Given the description of an element on the screen output the (x, y) to click on. 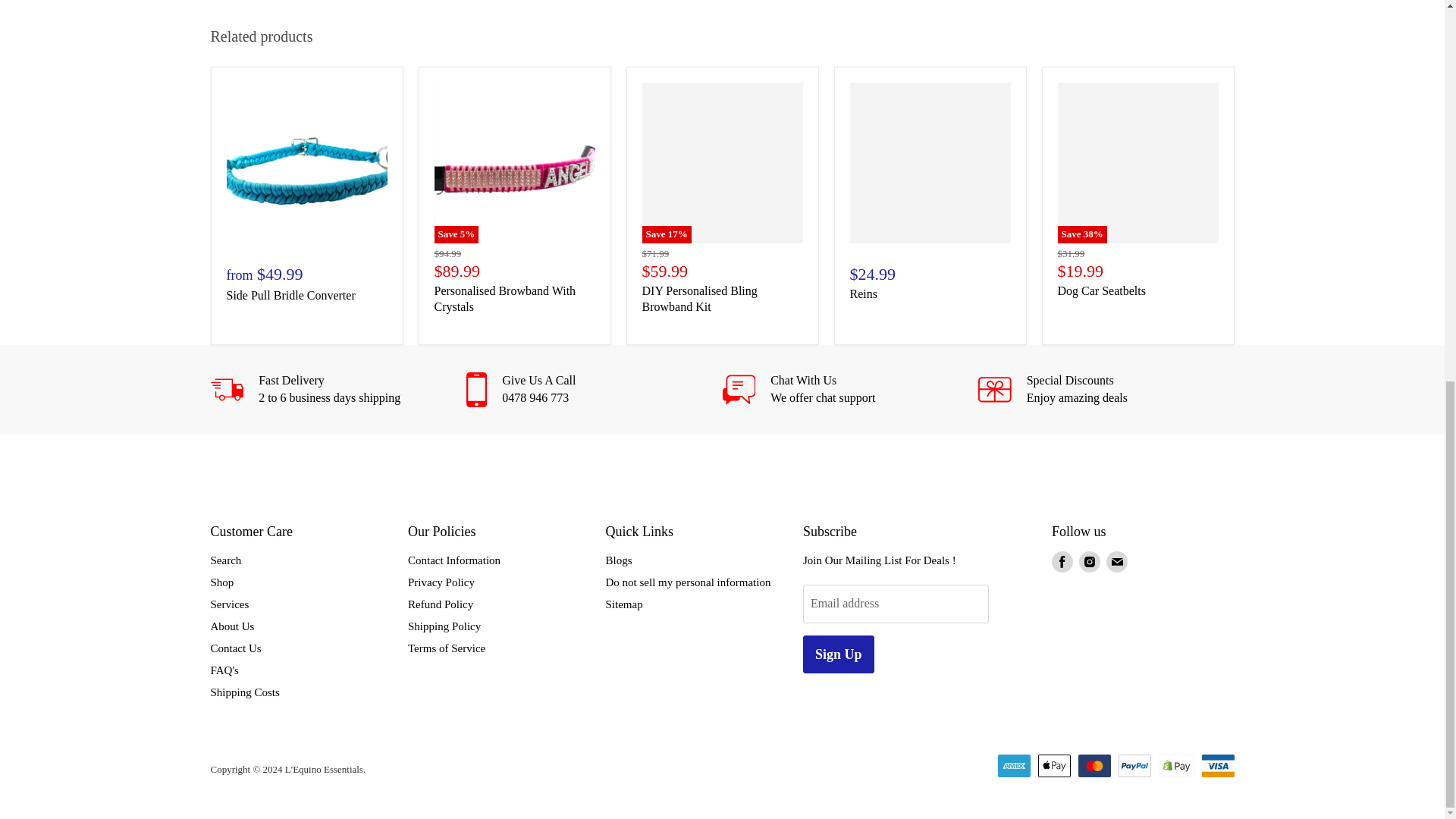
Facebook (1061, 561)
E-mail (1117, 561)
Instagram (1089, 561)
